Given the description of an element on the screen output the (x, y) to click on. 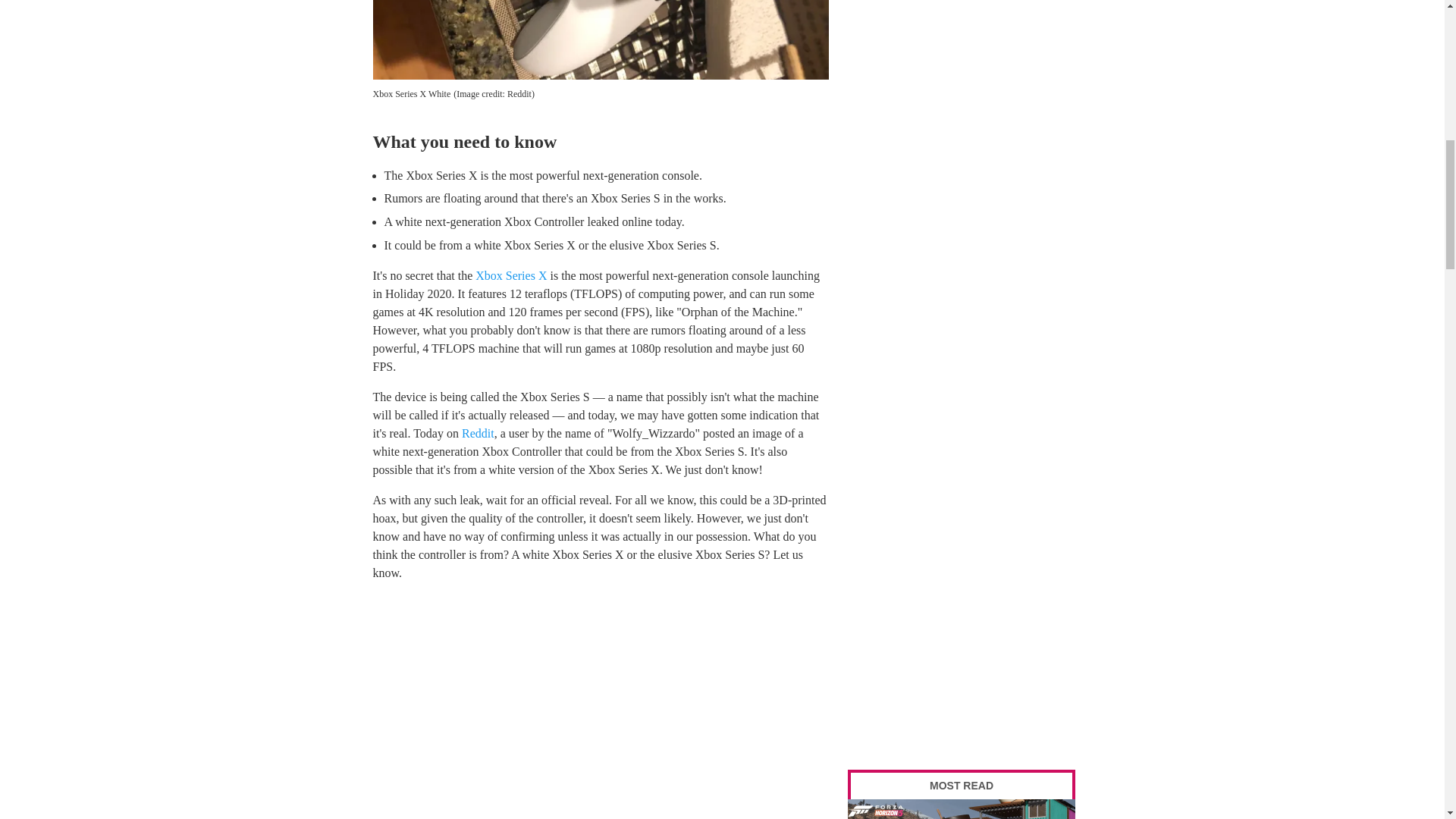
Xbox Series X (511, 275)
Reddit (478, 432)
